Given the description of an element on the screen output the (x, y) to click on. 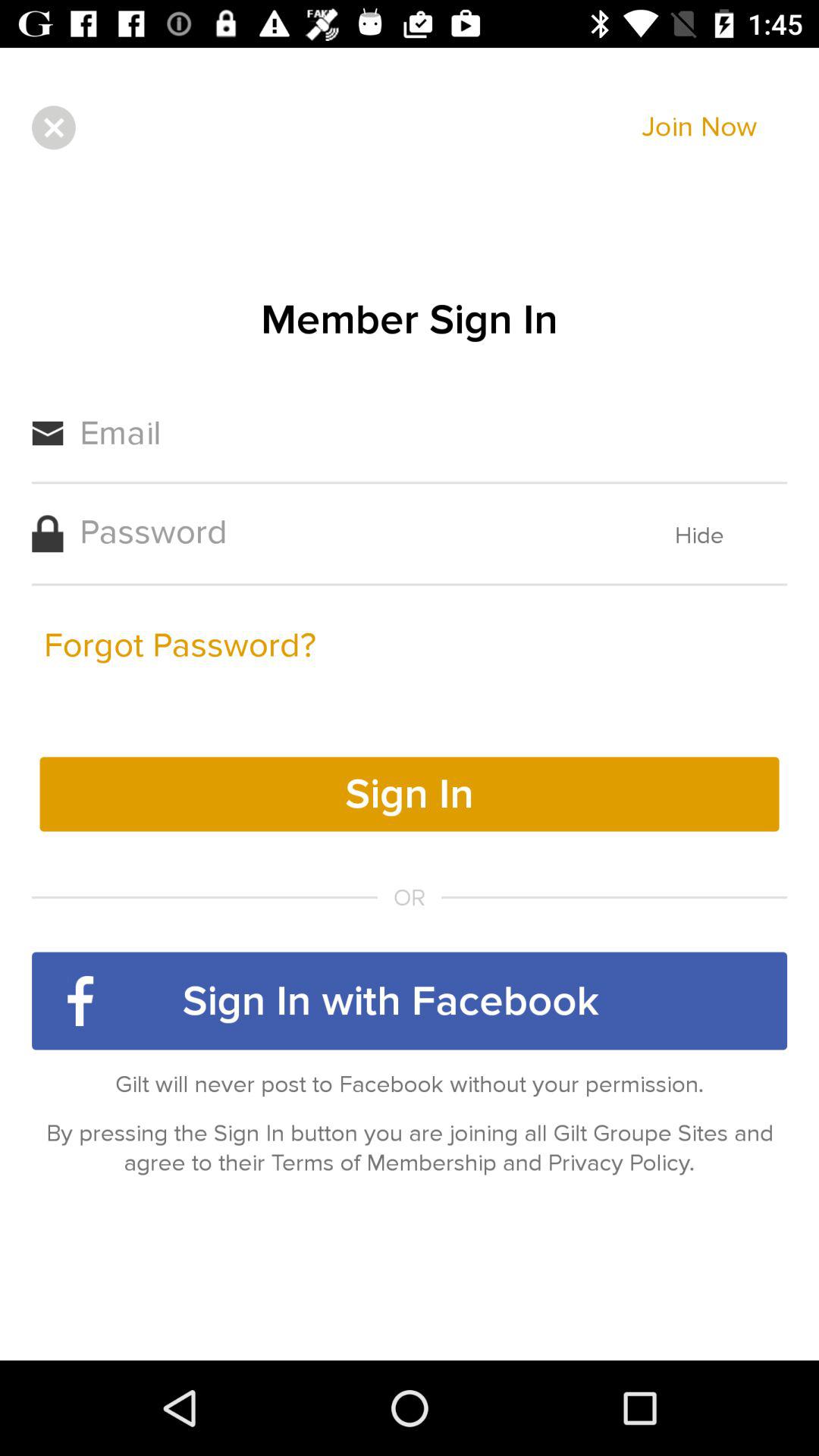
choose forgot password? item (179, 645)
